Given the description of an element on the screen output the (x, y) to click on. 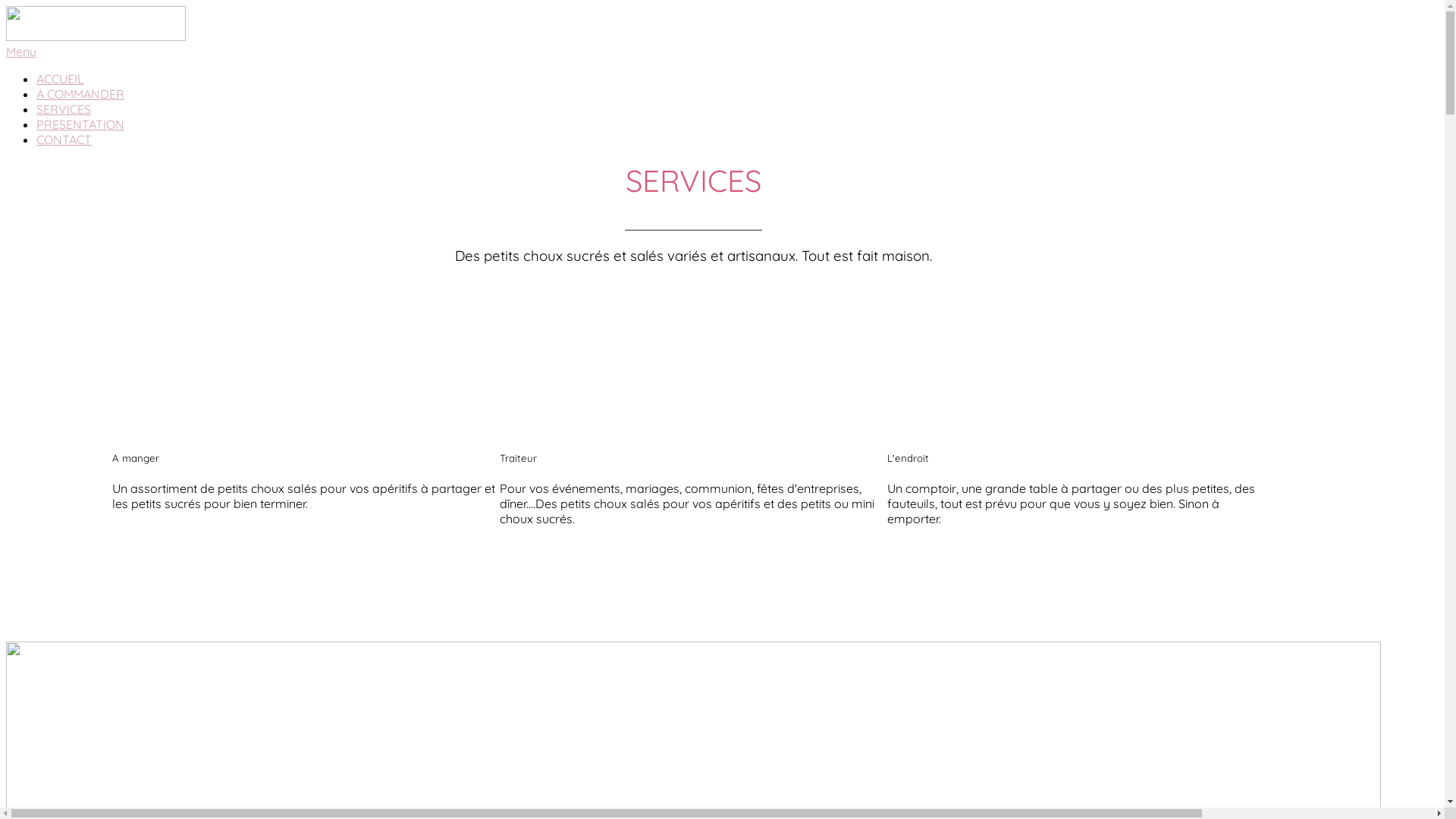
Home Element type: text (95, 35)
SERVICES Element type: text (63, 108)
PRESENTATION Element type: text (80, 123)
ACCUEIL Element type: text (60, 78)
Menu
Menu Element type: text (722, 51)
Skip to content Element type: text (5, 5)
A COMMANDER Element type: text (80, 93)
CONTACT Element type: text (63, 139)
